Given the description of an element on the screen output the (x, y) to click on. 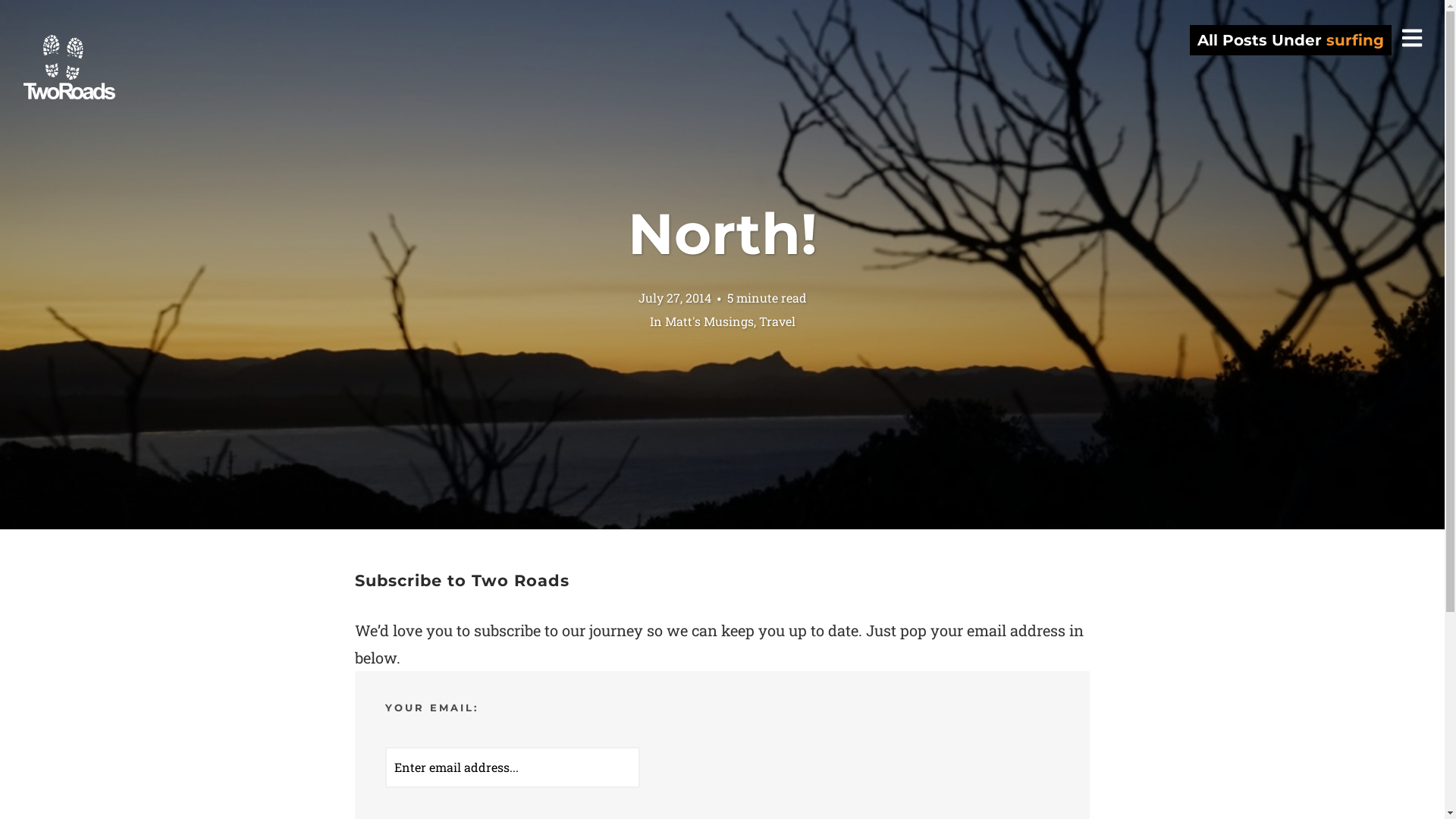
Home Element type: hover (69, 67)
July 27, 2014 Element type: text (674, 296)
Matt's Musings Element type: text (708, 320)
Travel Element type: text (776, 320)
North! Element type: text (722, 233)
